Given the description of an element on the screen output the (x, y) to click on. 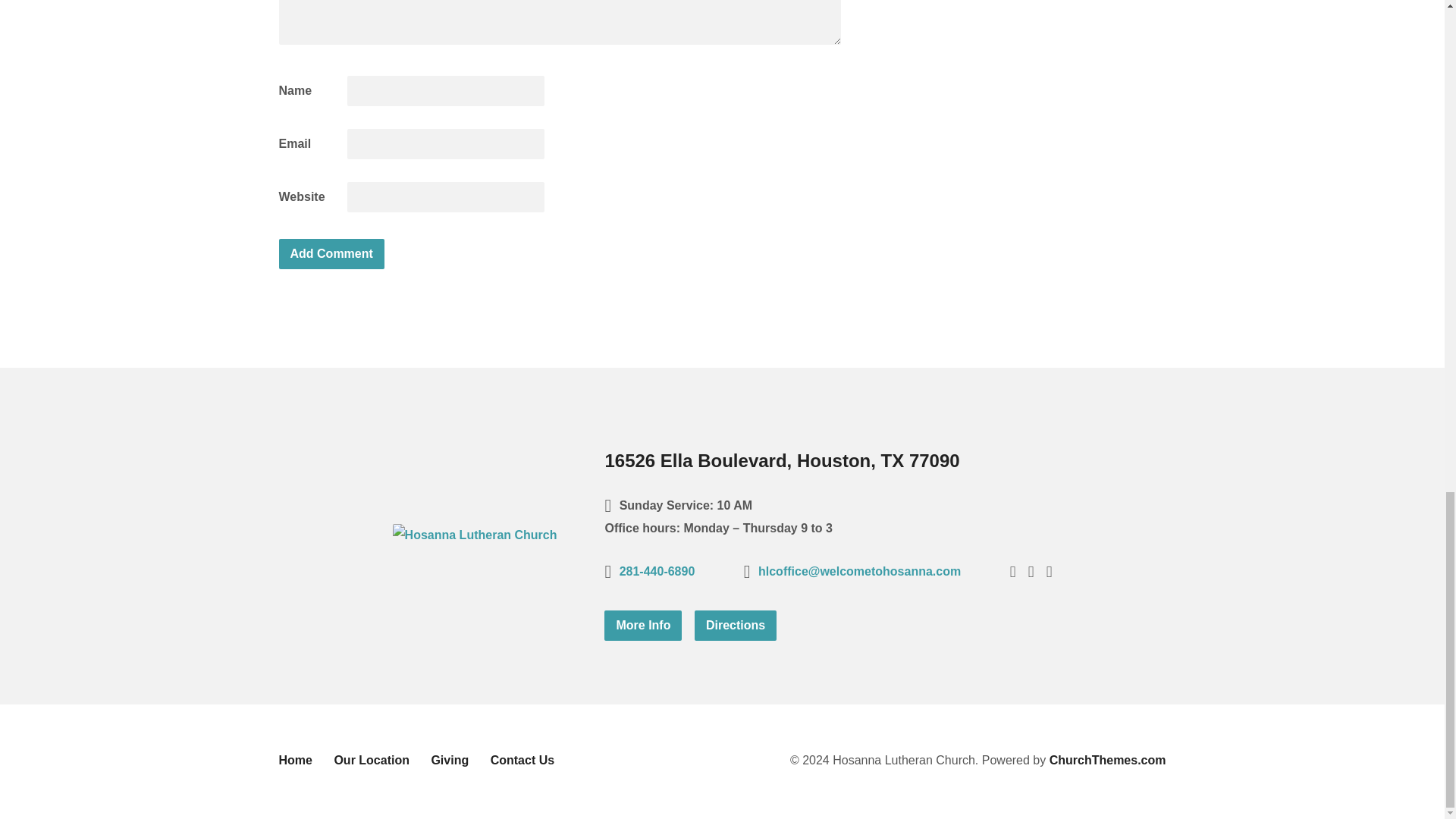
Hosanna Lutheran Church (475, 534)
Add Comment (331, 254)
